Given the description of an element on the screen output the (x, y) to click on. 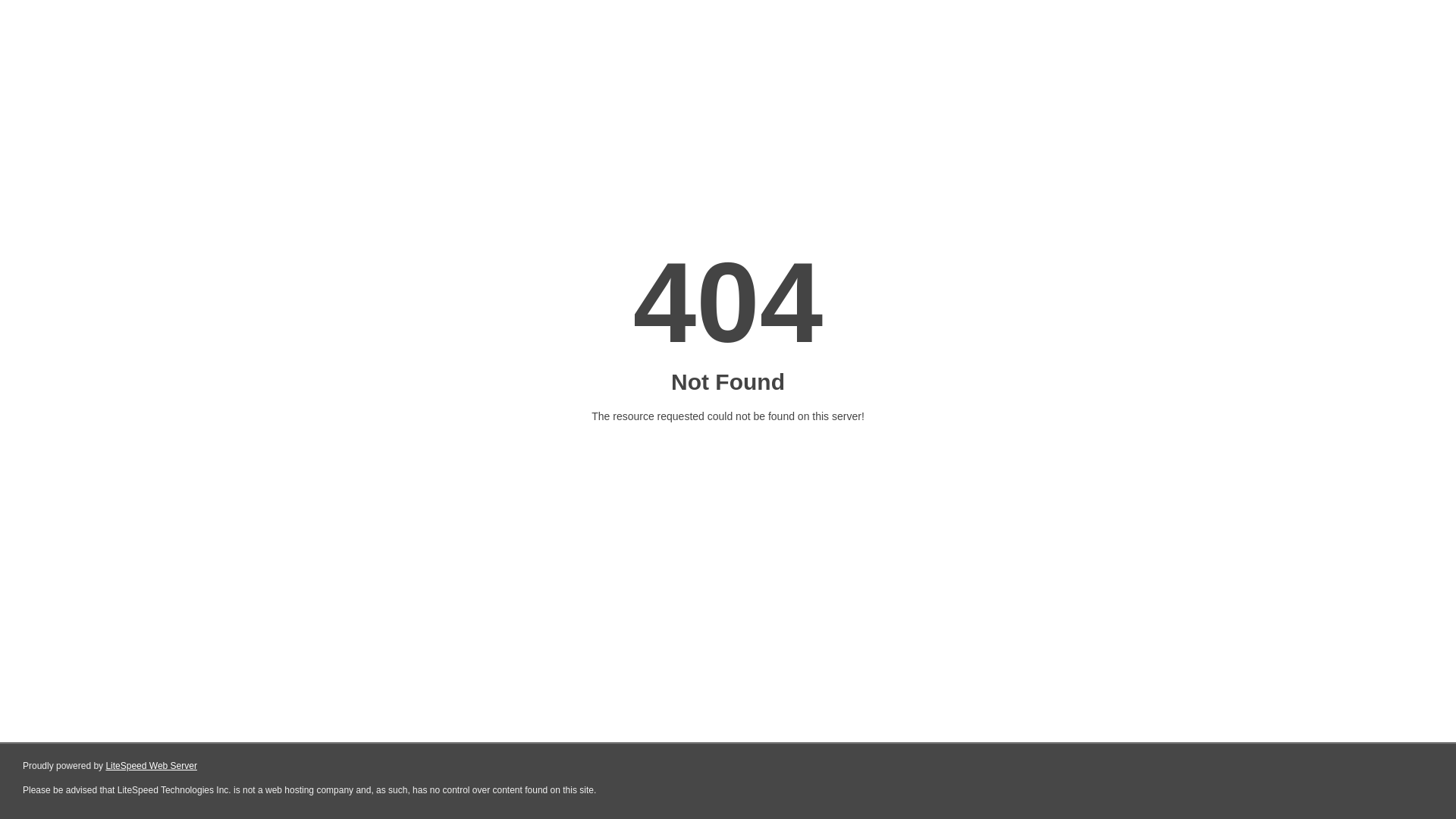
LiteSpeed Web Server Element type: text (151, 765)
